Given the description of an element on the screen output the (x, y) to click on. 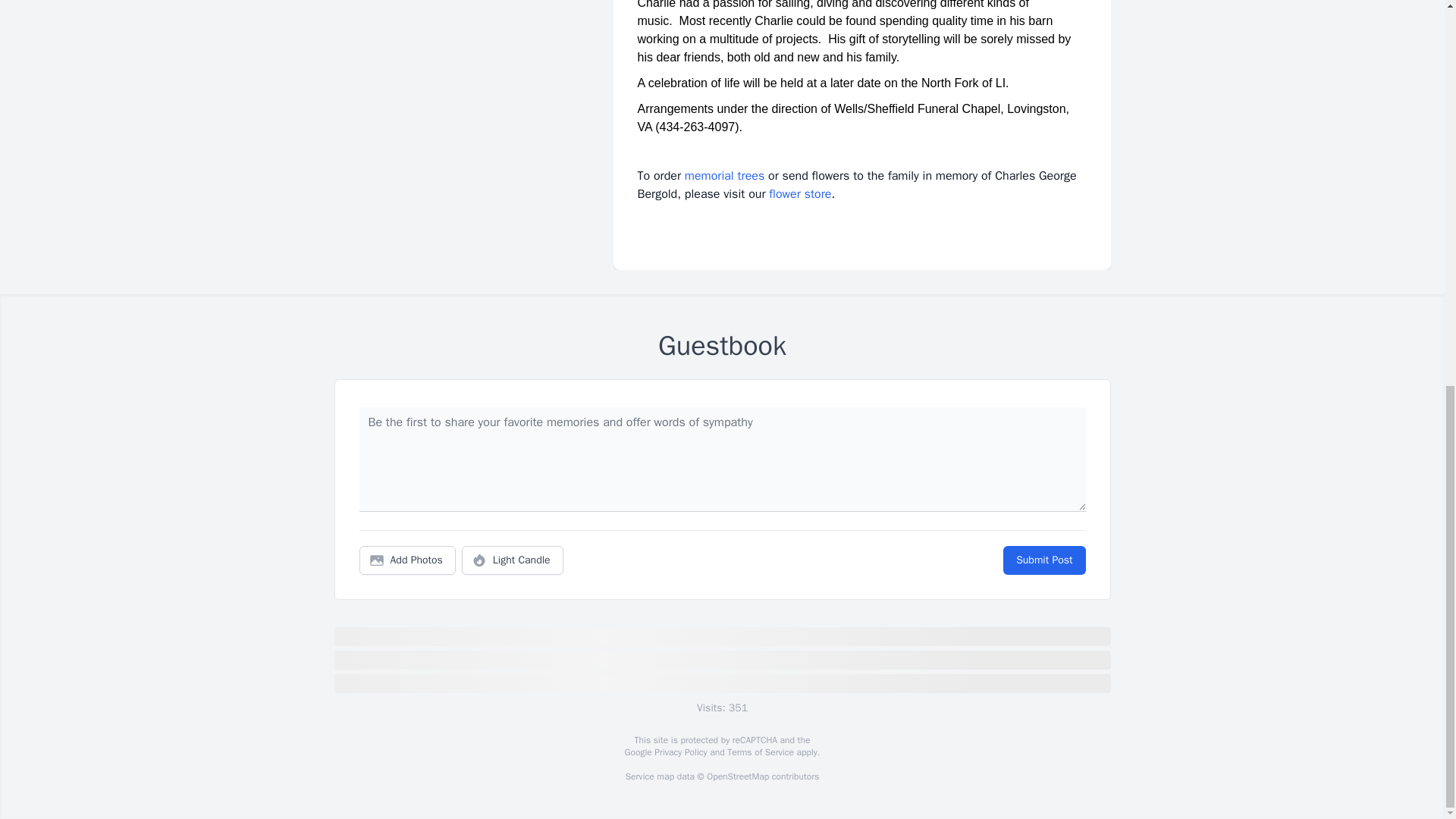
Privacy Policy (679, 752)
Submit Post (1043, 560)
Light Candle (512, 560)
OpenStreetMap (737, 776)
Add Photos (407, 560)
flower store (799, 193)
memorial trees (724, 175)
Terms of Service (759, 752)
